Given the description of an element on the screen output the (x, y) to click on. 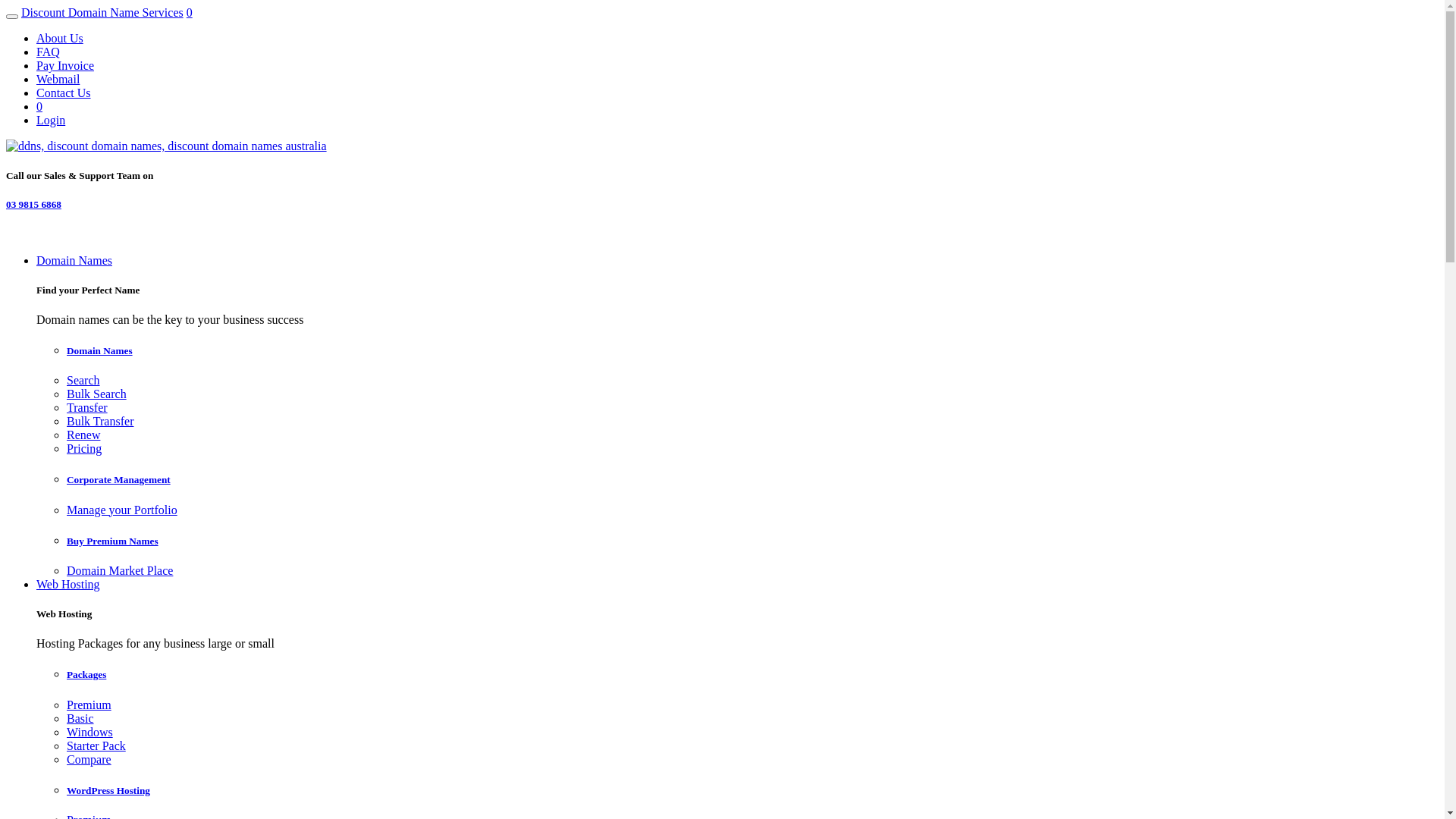
Compare Element type: text (88, 759)
Pay Invoice Element type: text (65, 65)
Discount Domain Name Services Element type: hover (166, 146)
Login Element type: text (50, 119)
Basic Element type: text (80, 718)
Domain Names Element type: text (752, 351)
Bulk Search Element type: text (96, 393)
Domain Market Place Element type: text (119, 570)
Packages Element type: text (752, 674)
FAQ Element type: text (47, 51)
Corporate Management Element type: text (752, 479)
Pricing Element type: text (83, 448)
Buy Premium Names Element type: text (752, 541)
WordPress Hosting Element type: text (752, 790)
Bulk Transfer Element type: text (99, 420)
Transfer Element type: text (86, 407)
Renew Element type: text (83, 434)
Web Hosting Element type: text (68, 583)
About Us Element type: text (59, 37)
Domain Names Element type: text (74, 260)
Windows Element type: text (89, 731)
03 9815 6868 Element type: text (33, 204)
Webmail Element type: text (57, 78)
Discount Domain Name Services Element type: text (102, 12)
Contact Us Element type: text (63, 92)
Manage your Portfolio Element type: text (121, 509)
Starter Pack Element type: text (95, 745)
0 Element type: text (189, 12)
Premium Element type: text (88, 704)
0 Element type: text (39, 106)
Search Element type: text (83, 379)
